Given the description of an element on the screen output the (x, y) to click on. 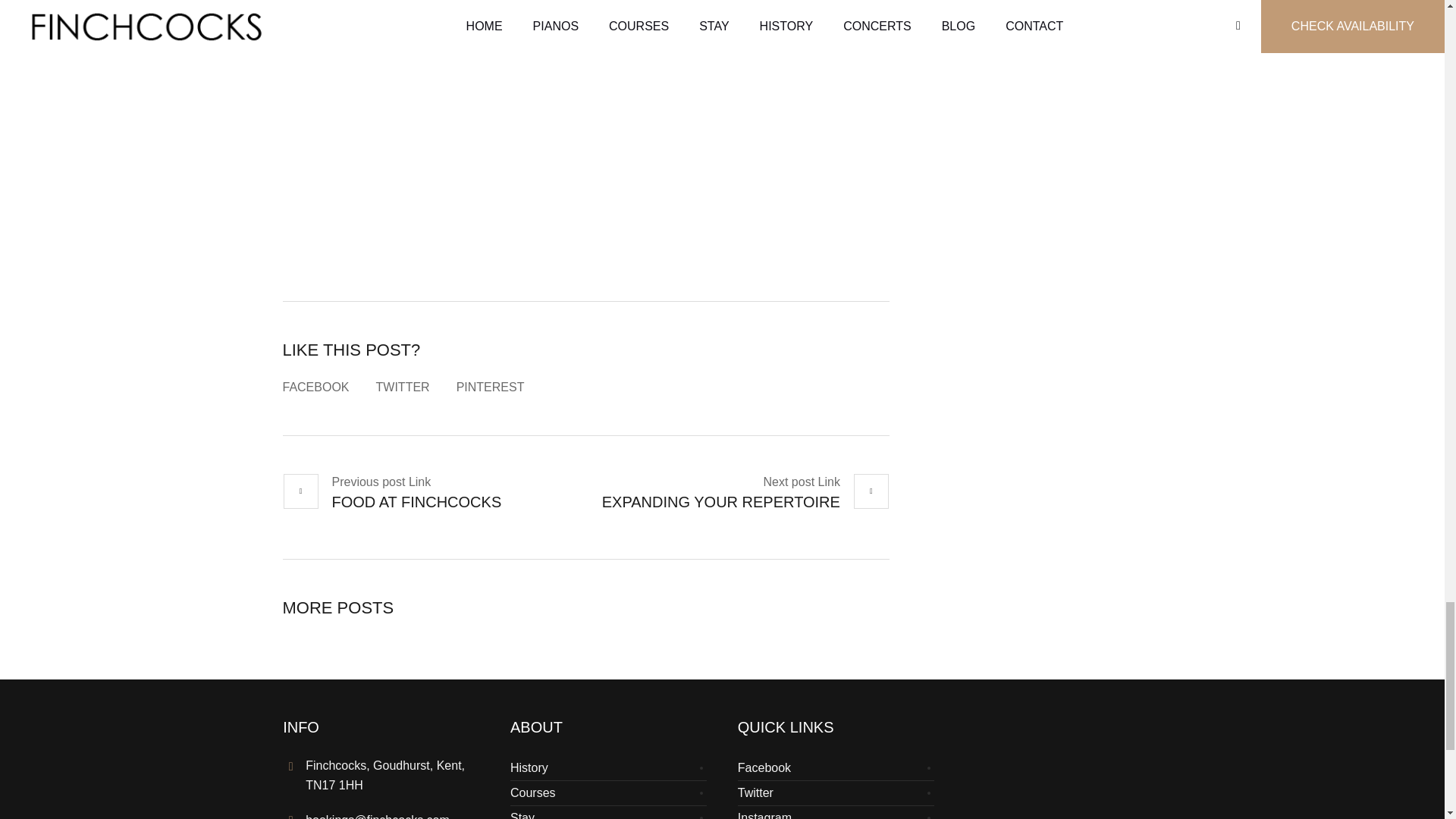
Perfecting the piano  with Precision Touch Design (585, 104)
EXPANDING YOUR REPERTOIRE (745, 492)
FOOD AT FINCHCOCKS (391, 492)
PINTEREST (490, 386)
FACEBOOK (315, 386)
TWITTER (402, 386)
